Given the description of an element on the screen output the (x, y) to click on. 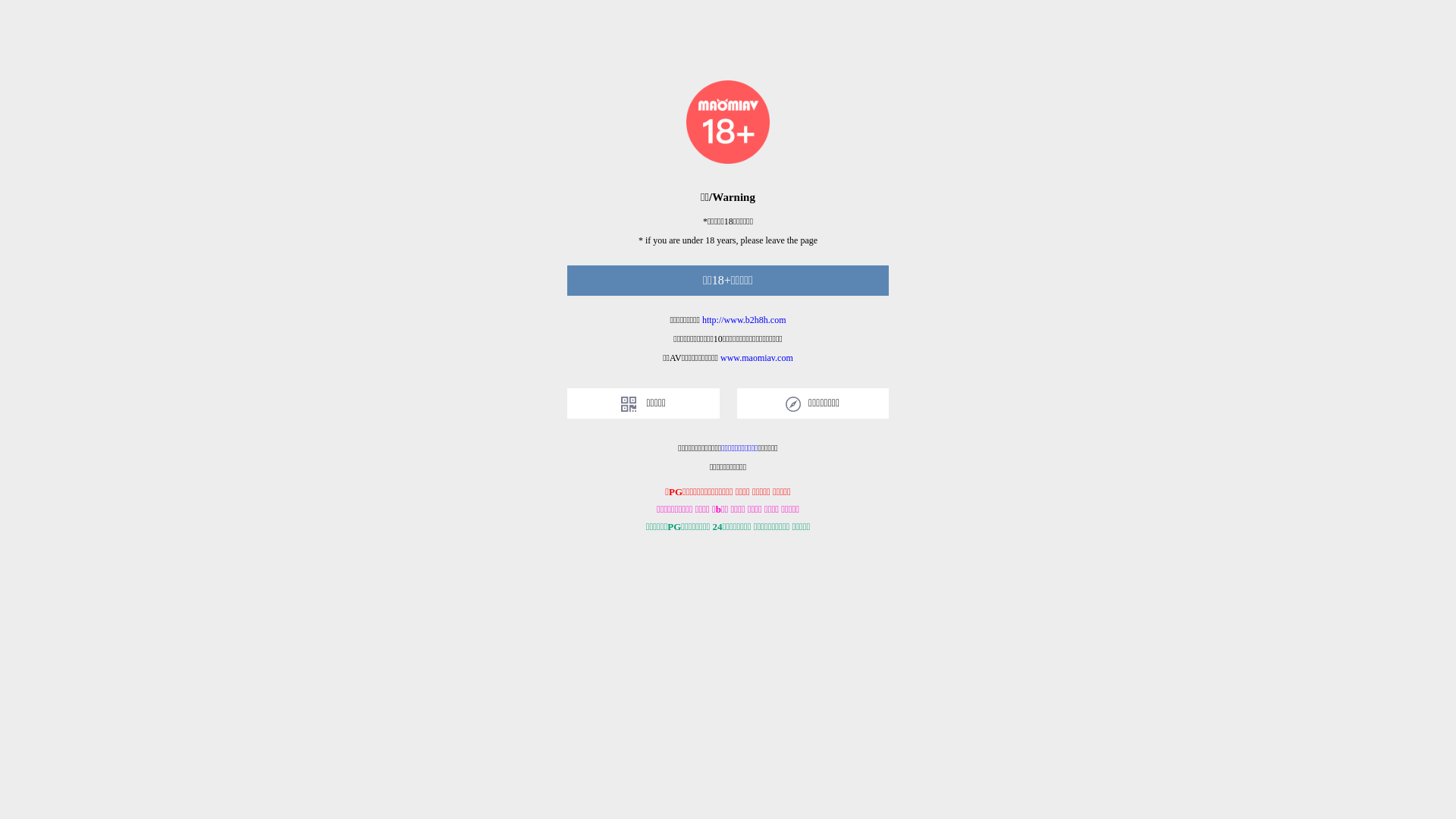
www.maomiav.com Element type: text (756, 357)
http://www.b2h8h.com Element type: text (744, 319)
